Given the description of an element on the screen output the (x, y) to click on. 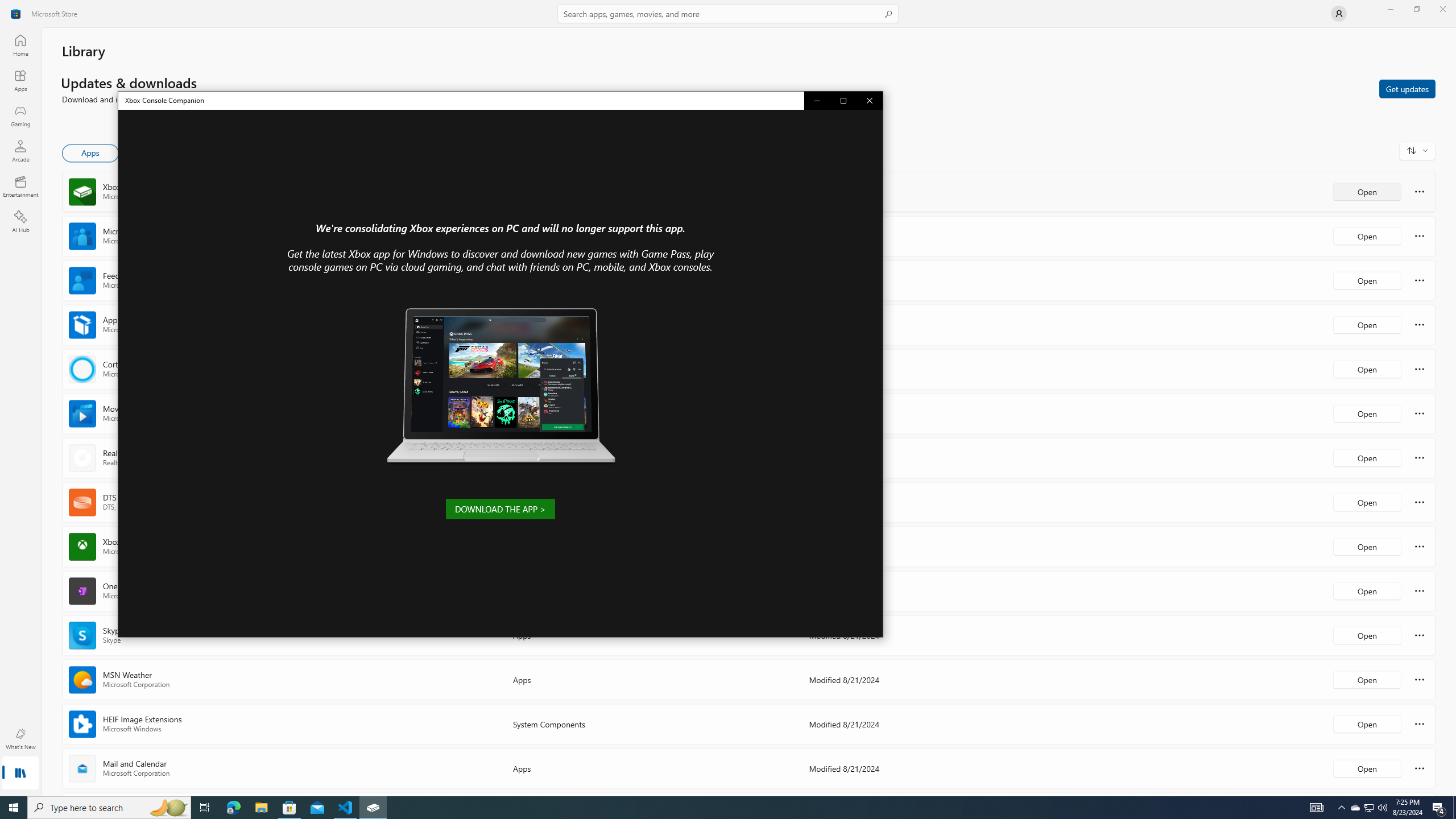
Library (20, 773)
Open (1366, 768)
File Explorer (261, 807)
Q2790: 100% (1382, 807)
Xbox Console Companion - 1 running window (373, 807)
Search (727, 13)
Close Xbox Console Companion (869, 100)
Notification Chevron (1355, 807)
Microsoft Store - 1 running window (1341, 807)
Minimize Microsoft Store (289, 807)
Home (1390, 9)
Apps (20, 45)
Entertainment (20, 80)
